Given the description of an element on the screen output the (x, y) to click on. 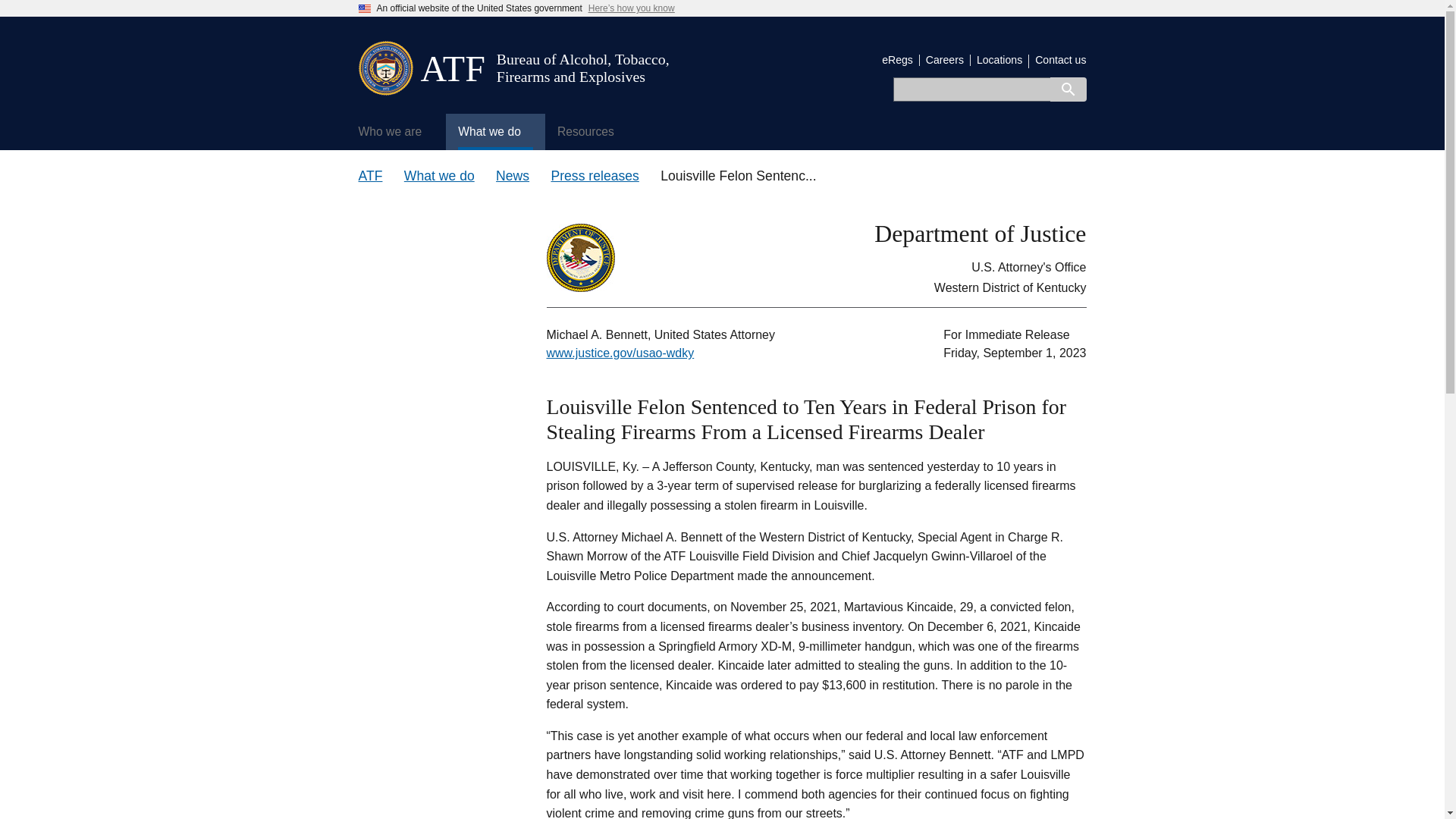
News (512, 175)
ATF (369, 175)
What we do (494, 131)
Who we are (395, 131)
What we do (439, 175)
eRegs (897, 59)
ATF (452, 68)
ATF (452, 68)
Careers (944, 59)
Press releases (594, 175)
